Given the description of an element on the screen output the (x, y) to click on. 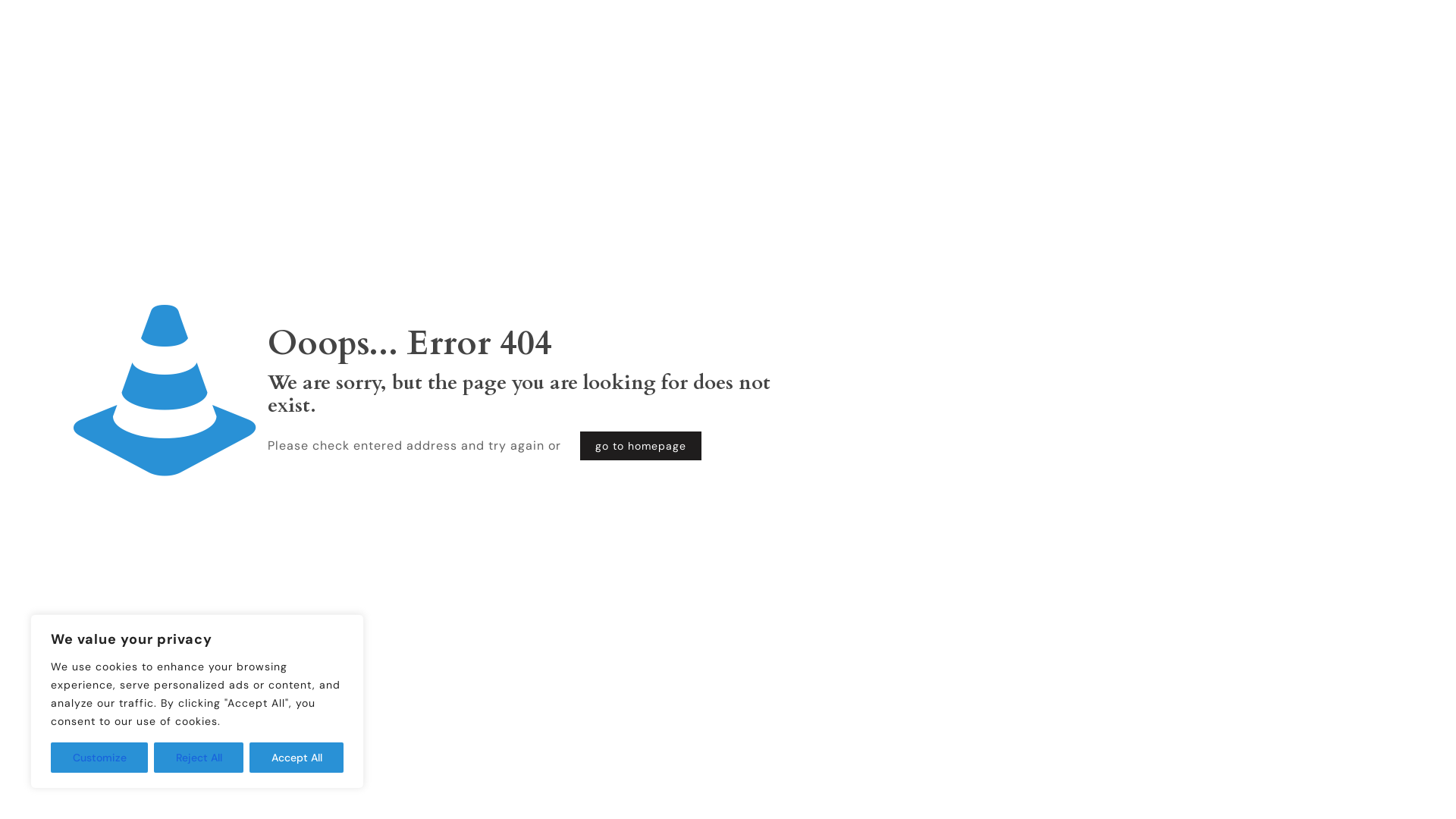
Reject All Element type: text (198, 757)
Accept All Element type: text (296, 757)
Customize Element type: text (98, 757)
go to homepage Element type: text (640, 445)
